Given the description of an element on the screen output the (x, y) to click on. 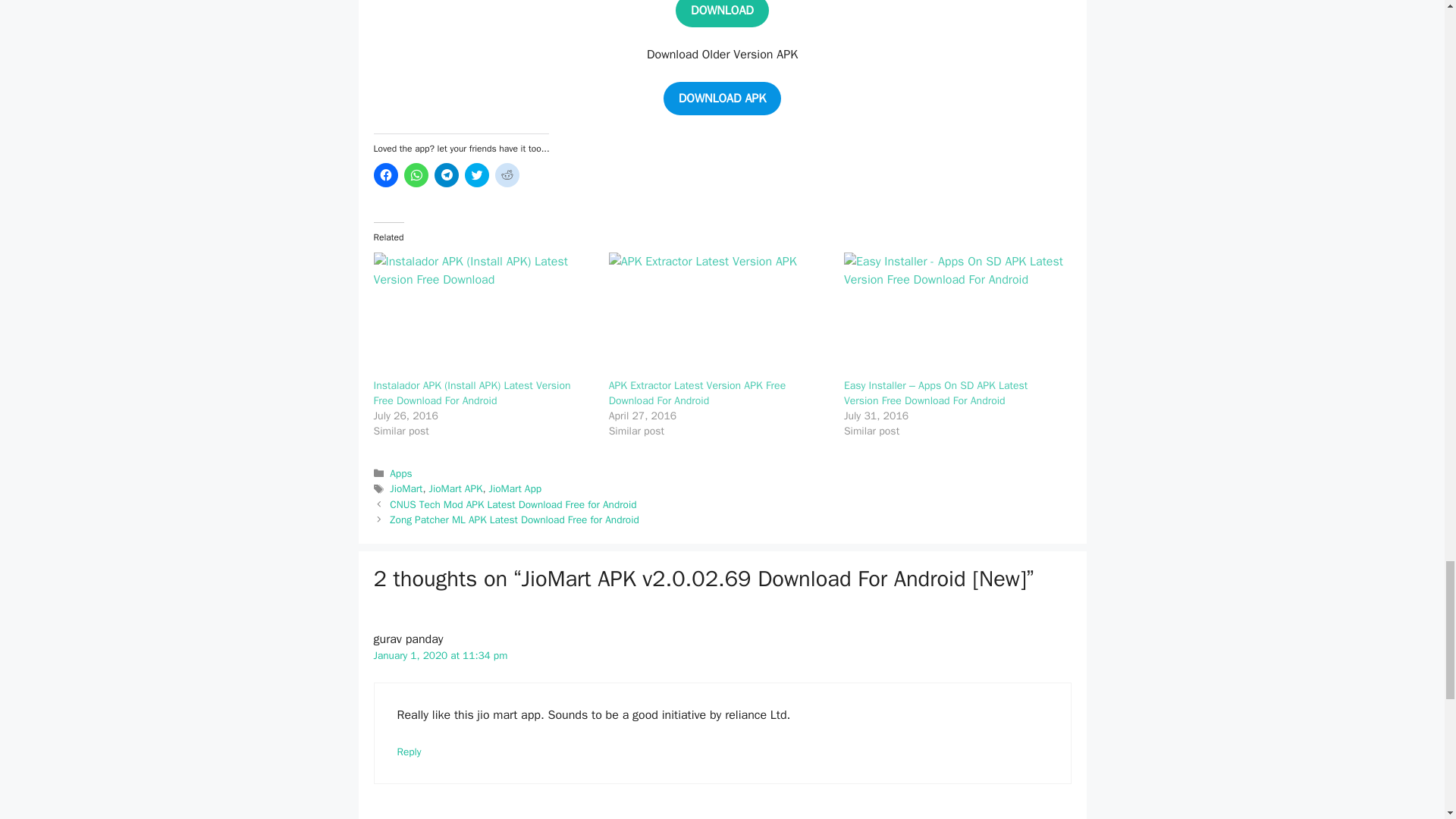
CNUS Tech Mod APK Latest Download Free for Android (513, 504)
Click to share on Facebook (384, 174)
APK Extractor Latest Version APK Free Download For Android (697, 393)
JioMart (406, 488)
DOWNLOAD APK (721, 98)
Zong Patcher ML APK Latest Download Free for Android (514, 519)
DOWNLOAD (721, 13)
JioMart APK (456, 488)
Apps (401, 472)
JioMart App (515, 488)
